Given the description of an element on the screen output the (x, y) to click on. 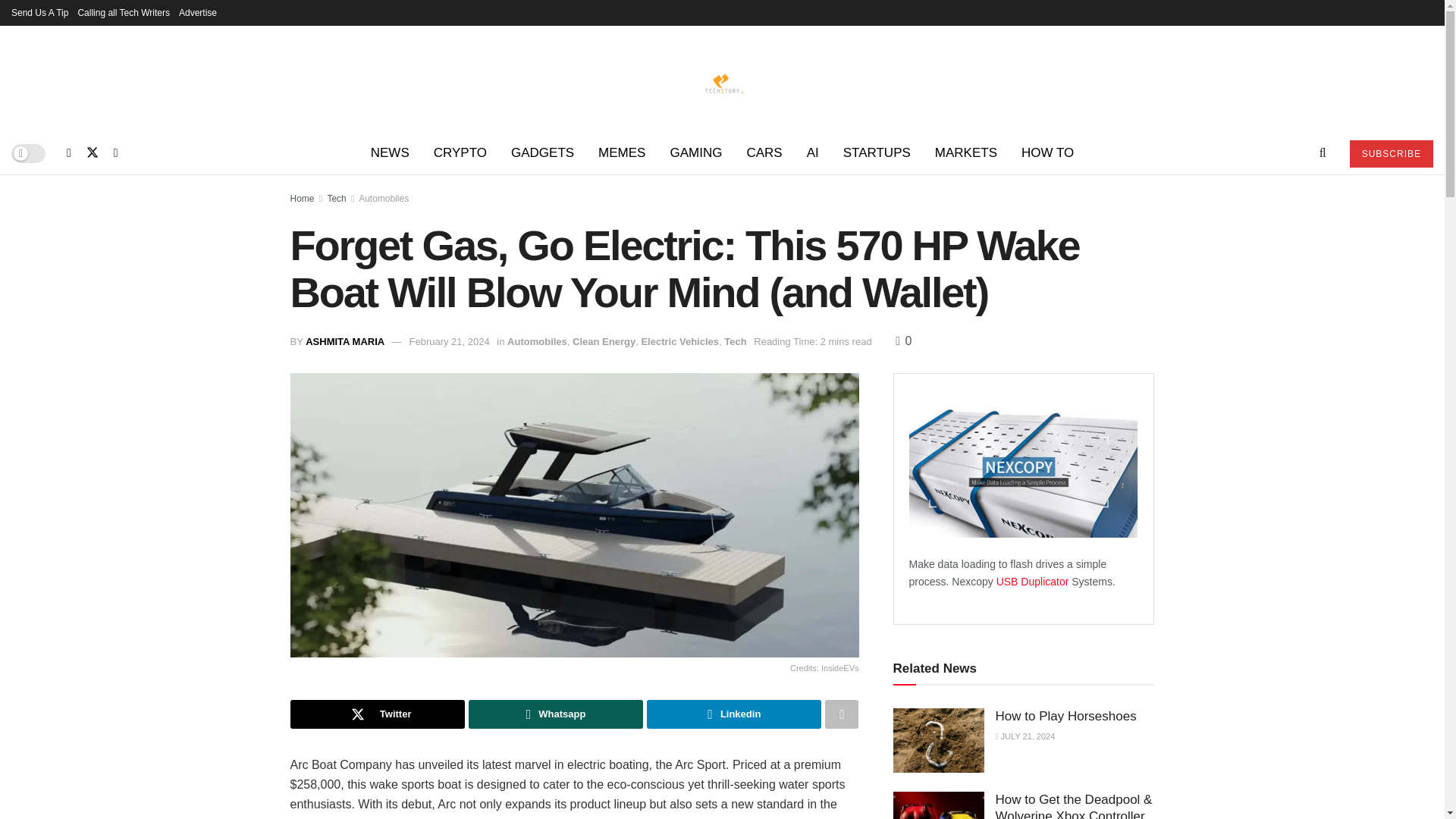
NEWS (390, 152)
Send Us A Tip (39, 12)
CRYPTO (460, 152)
GAMING (695, 152)
SUBSCRIBE (1390, 153)
USB duplicator (1033, 581)
CARS (763, 152)
Advertise (197, 12)
STARTUPS (877, 152)
Home (301, 198)
GADGETS (542, 152)
Automobiles (383, 198)
Tech (336, 198)
MEMES (622, 152)
Calling all Tech Writers (123, 12)
